Given the description of an element on the screen output the (x, y) to click on. 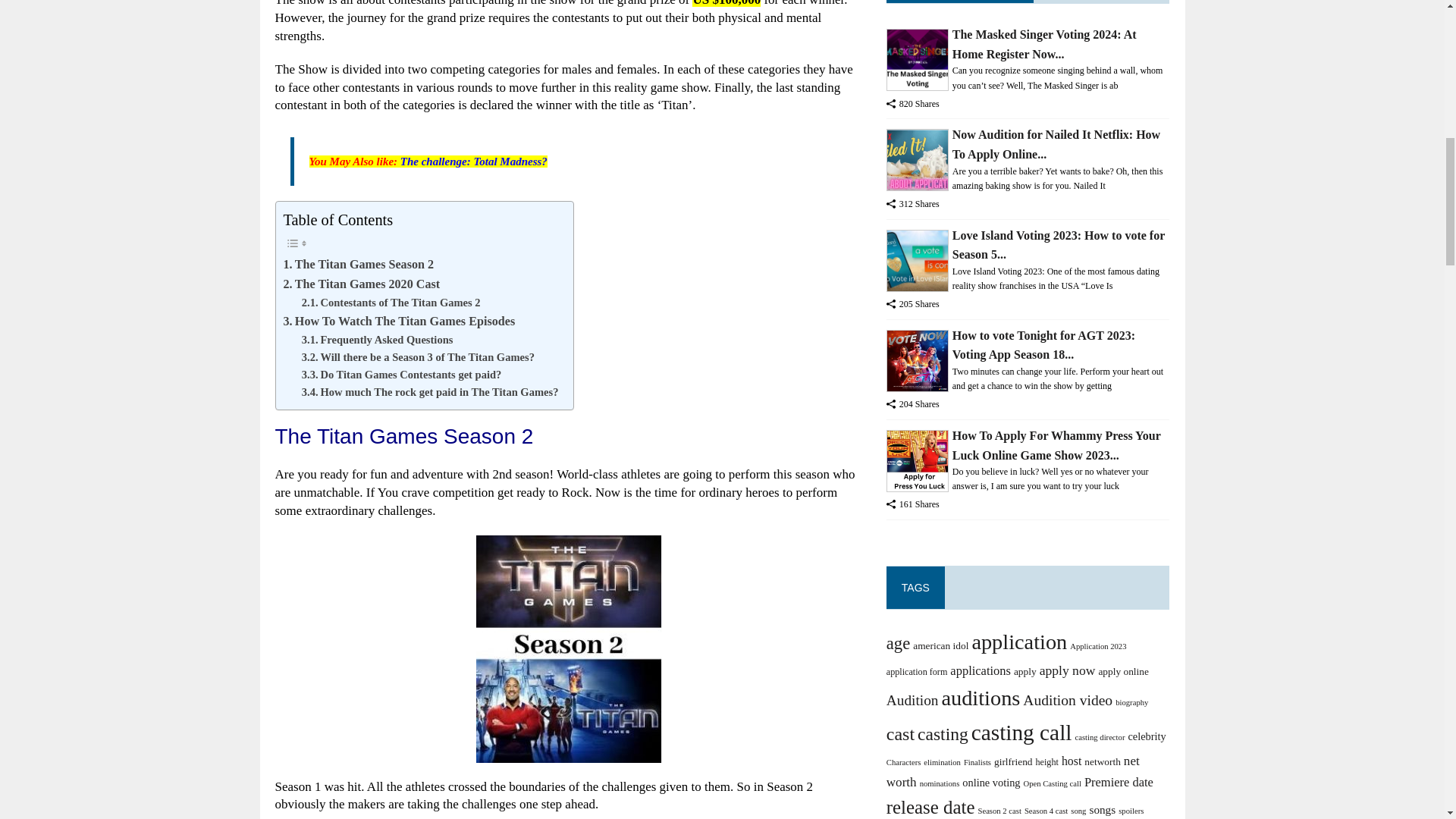
Do Titan Games Contestants get paid? (401, 375)
Frequently Asked Questions (376, 339)
How much The rock get paid in The Titan Games? (430, 392)
The Titan Games 2020 Cast (362, 284)
How much The rock get paid in The Titan Games? (430, 392)
How To Watch The Titan Games Episodes (399, 321)
The Titan Games 2020 Cast (362, 284)
Do Titan Games Contestants get paid? (401, 375)
Will there be a Season 3 of The Titan Games? (417, 357)
Contestants of The Titan Games 2 (390, 303)
The Titan Games Season 2 (358, 264)
Will there be a Season 3 of The Titan Games? (417, 357)
Frequently Asked Questions (376, 339)
The challenge: Total Madness? (473, 161)
The Titan Games Season 2 (358, 264)
